Given the description of an element on the screen output the (x, y) to click on. 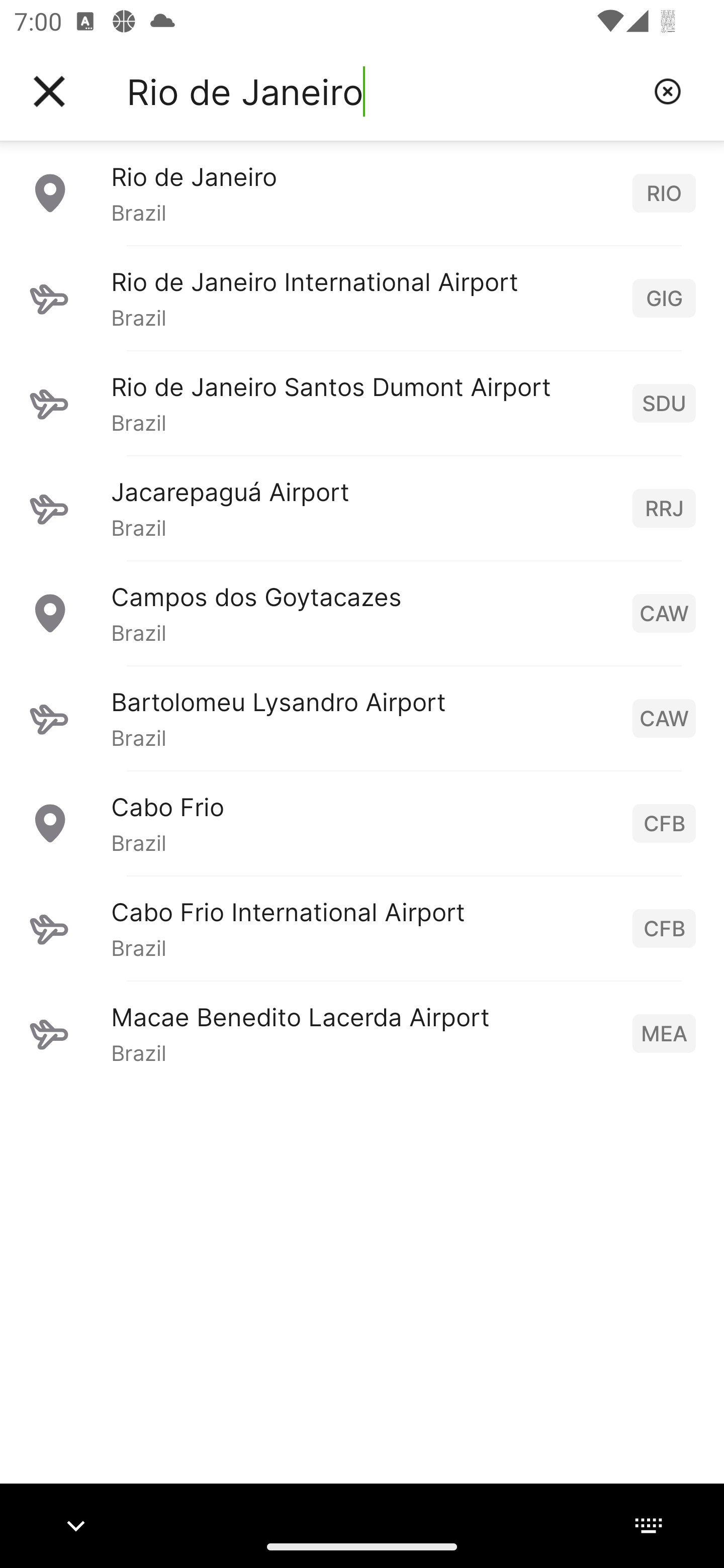
Rio de Janeiro (382, 91)
Rio de Janeiro Brazil RIO (362, 192)
Rio de Janeiro International Airport Brazil GIG (362, 297)
Rio de Janeiro Santos Dumont Airport Brazil SDU (362, 402)
Jacarepaguá Airport Brazil RRJ (362, 507)
Campos dos Goytacazes Brazil CAW (362, 612)
Bartolomeu Lysandro Airport Brazil CAW (362, 717)
Cabo Frio Brazil CFB (362, 822)
Cabo Frio International Airport Brazil CFB (362, 928)
Macae Benedito Lacerda Airport Brazil MEA (362, 1033)
